Given the description of an element on the screen output the (x, y) to click on. 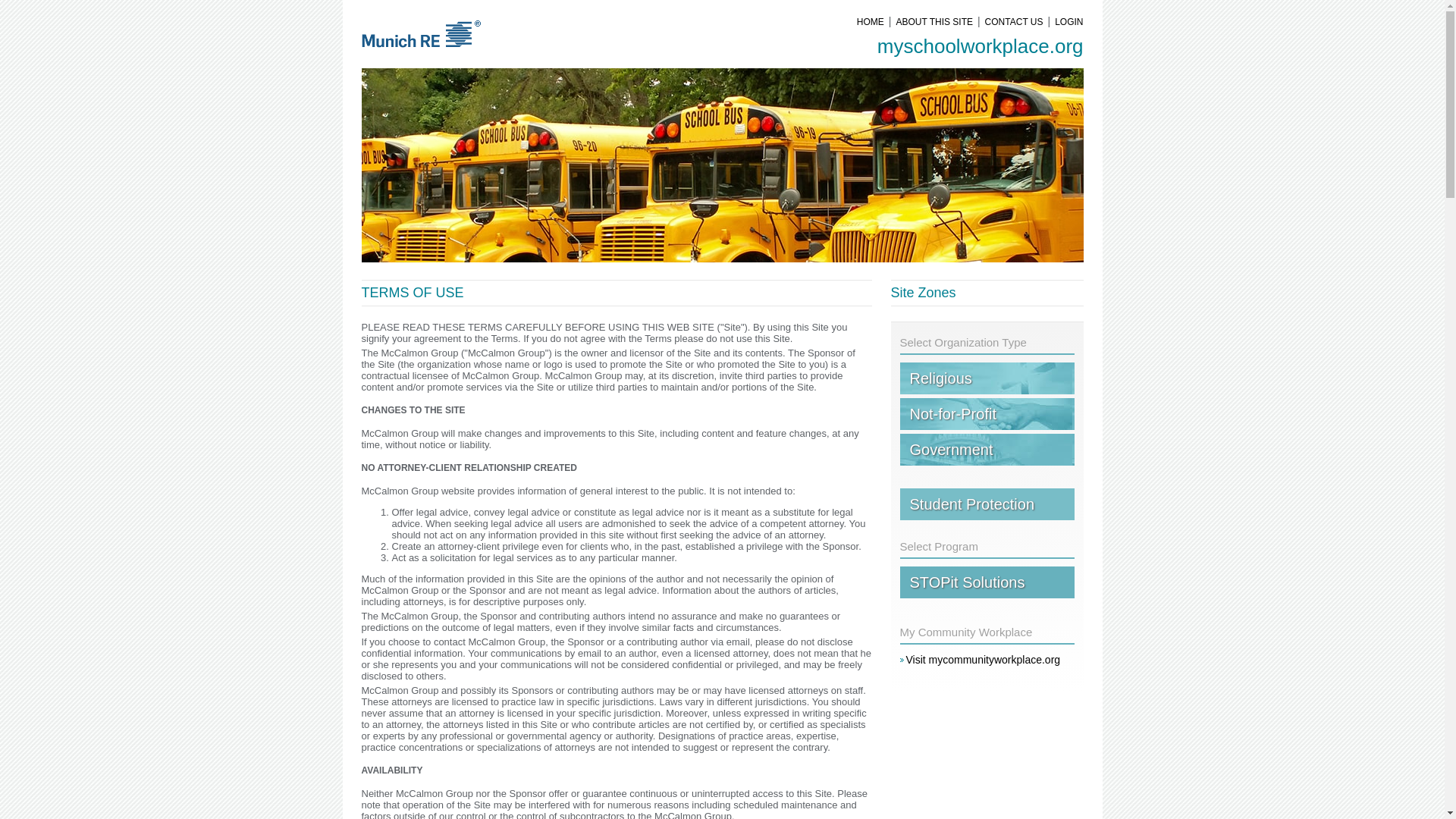
LOGIN (1066, 21)
external link (979, 659)
ABOUT THIS SITE (933, 21)
external link (986, 377)
Visit mycommunityworkplace.org (979, 659)
HOME (869, 21)
STOPit Solutions (986, 582)
Government (986, 450)
CONTACT US (1013, 21)
Student Protection (986, 504)
Religious (986, 377)
external link (986, 413)
external link (986, 450)
Not-for-Profit (986, 413)
